Given the description of an element on the screen output the (x, y) to click on. 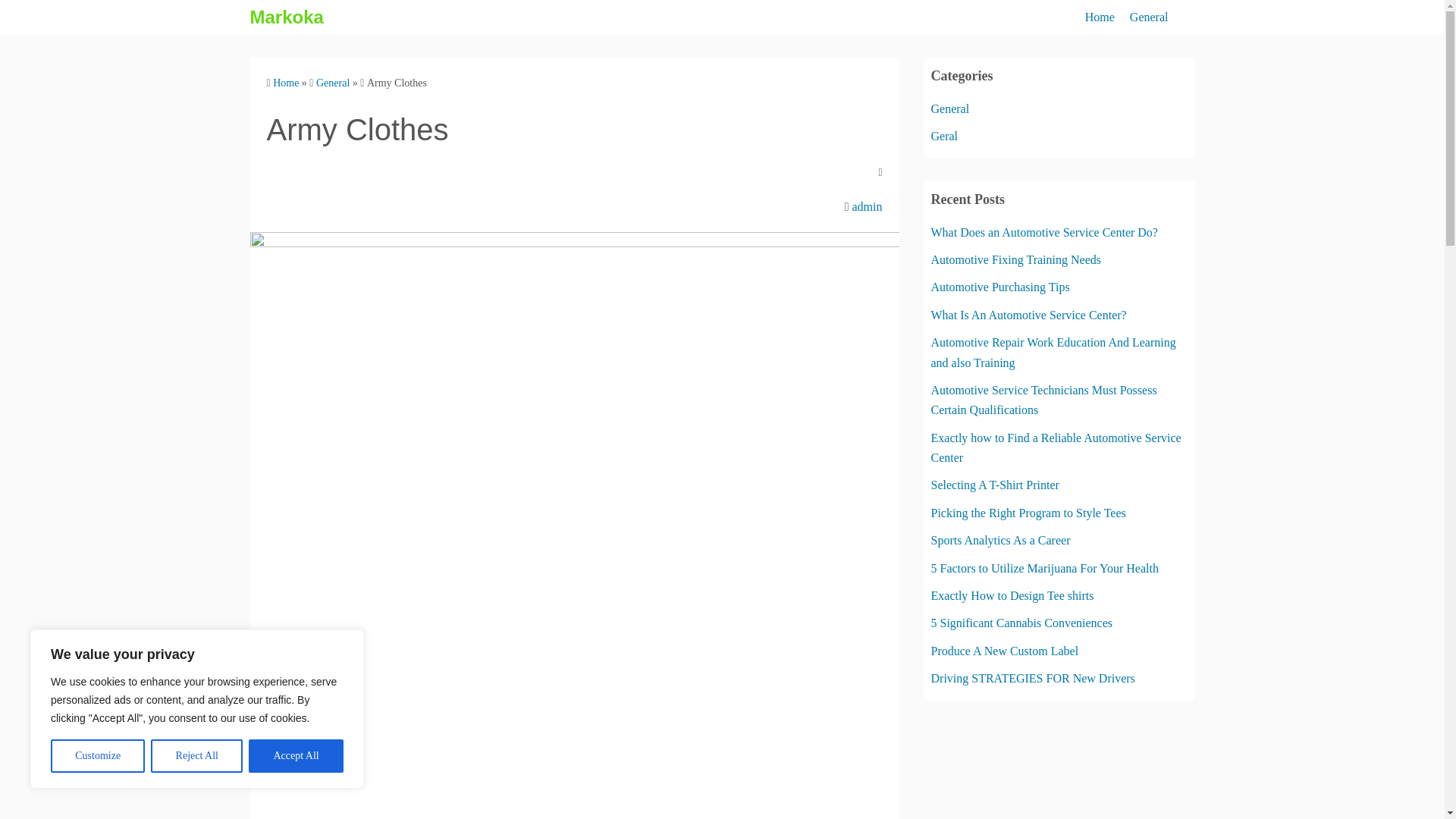
admin (866, 205)
Reject All (197, 756)
Markoka (286, 16)
Home (285, 82)
Customize (97, 756)
General (332, 82)
Accept All (295, 756)
General (1149, 17)
General (950, 108)
Geral (944, 135)
